Given the description of an element on the screen output the (x, y) to click on. 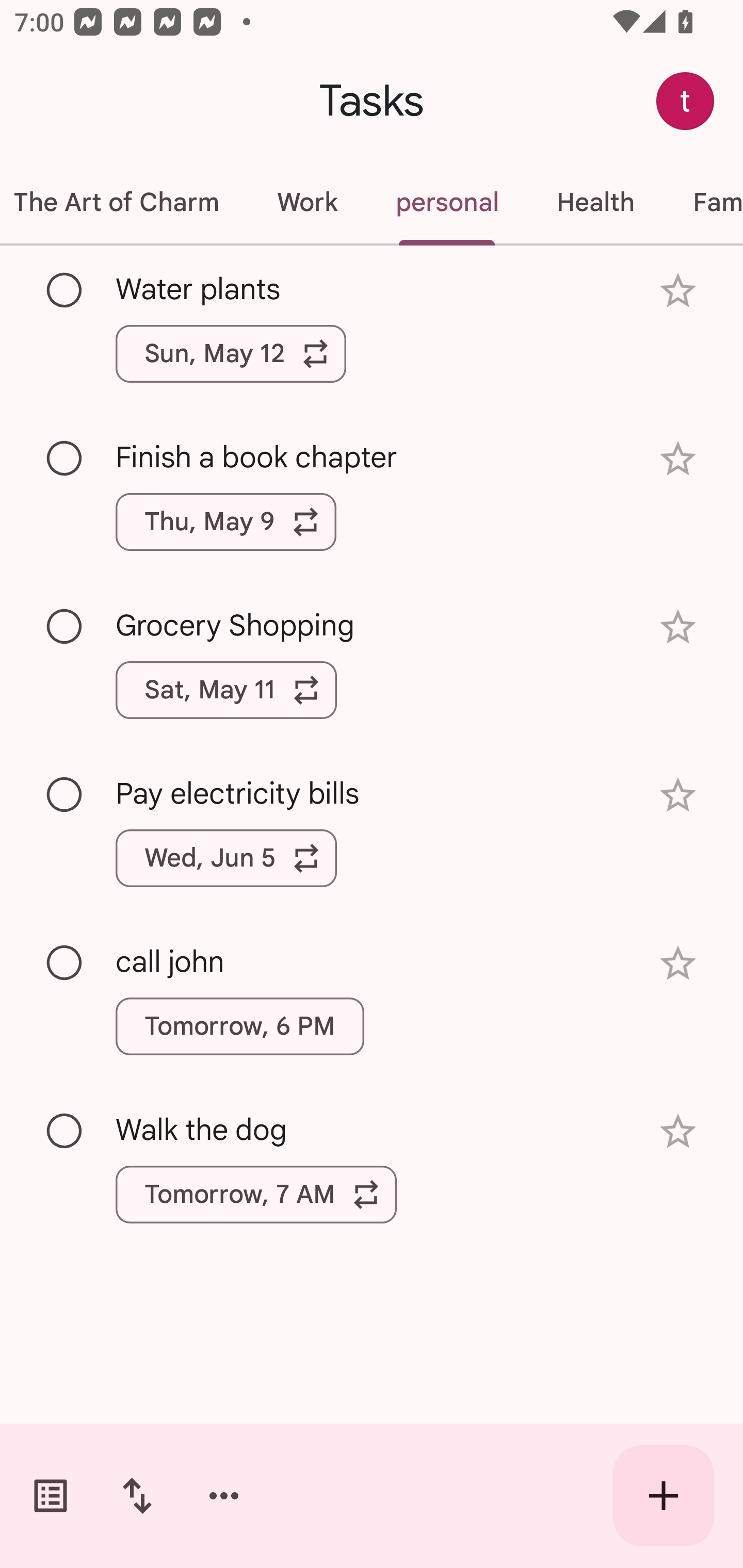
The Art of Charm (123, 202)
Work (306, 202)
Health (595, 202)
Add star (677, 290)
Mark as complete (64, 290)
Sun, May 12 (230, 353)
Add star (677, 458)
Mark as complete (64, 459)
Thu, May 9 (225, 522)
Add star (677, 627)
Mark as complete (64, 627)
Sat, May 11 (225, 689)
Add star (677, 795)
Mark as complete (64, 794)
Wed, Jun 5 (225, 858)
Add star (677, 963)
Mark as complete (64, 963)
Tomorrow, 6 PM (239, 1026)
Add star (677, 1131)
Mark as complete (64, 1132)
Tomorrow, 7 AM (255, 1193)
Switch task lists (50, 1495)
Create new task (663, 1495)
Change sort order (136, 1495)
More options (223, 1495)
